Given the description of an element on the screen output the (x, y) to click on. 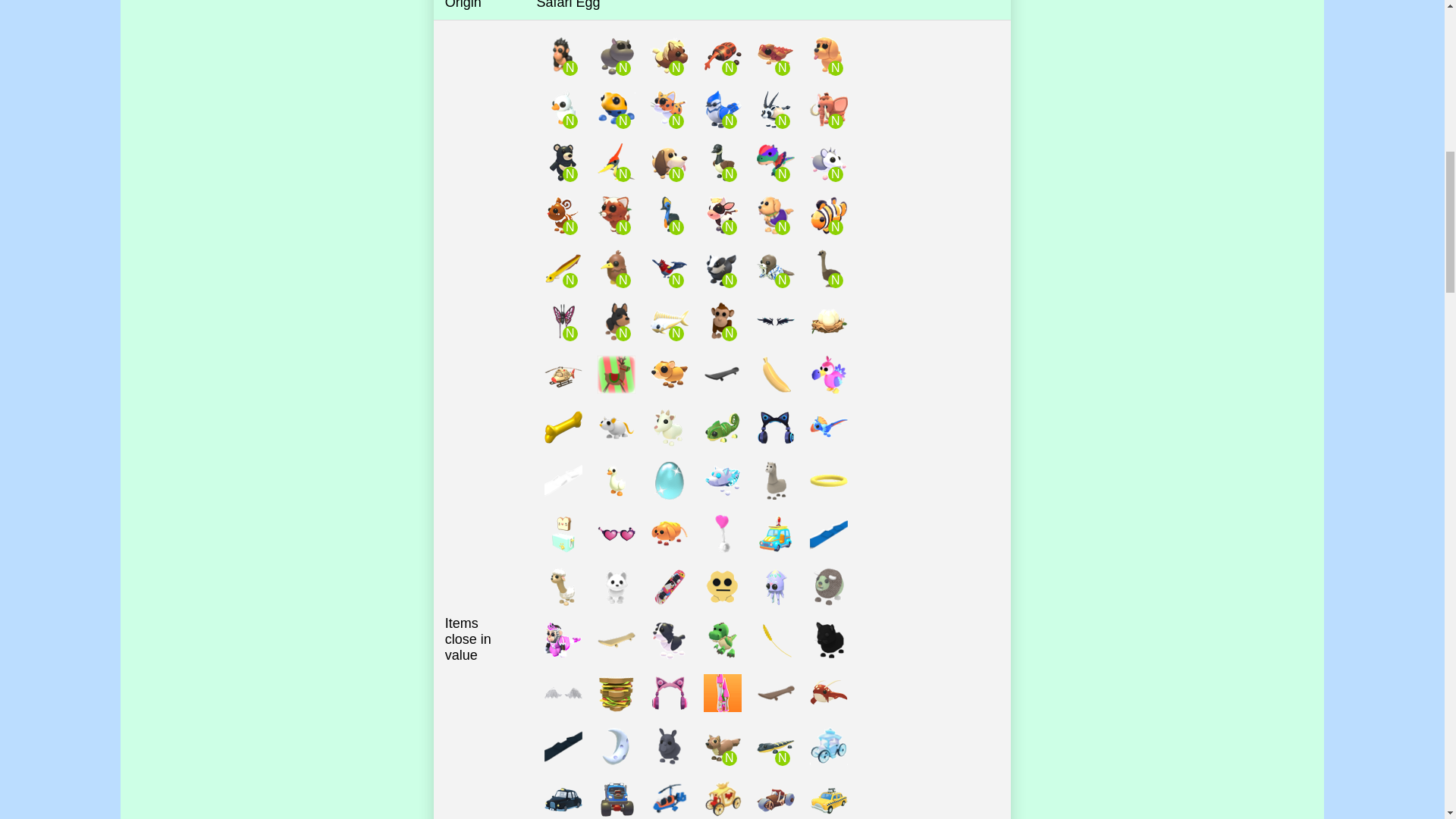
Thorny Devil - Rare from Desert Egg (775, 55)
Weevil - Rare from Garden Egg (722, 55)
Happy Duckling - Rare from Duckling Box (563, 108)
Bloodhound - Rare from UGC Pet Refresh January 2023 (669, 162)
Hippo - Rare from Danger Egg (616, 55)
Gorilla - Rare from Gorilla Box (563, 55)
Woolly Mammoth - Rare from Fossil Egg (829, 108)
Toy Poodle - Rare from Urban Egg (829, 55)
Indian Leopard - Rare from Urban Egg (669, 108)
Oryx - Rare from Desert Egg (775, 108)
Blue Jay - Rare from Garden Egg (722, 108)
Pterodactyl - Rare from Fossil Egg (616, 162)
Poison Dart Frog - Rare from Danger Egg (616, 108)
